Given the description of an element on the screen output the (x, y) to click on. 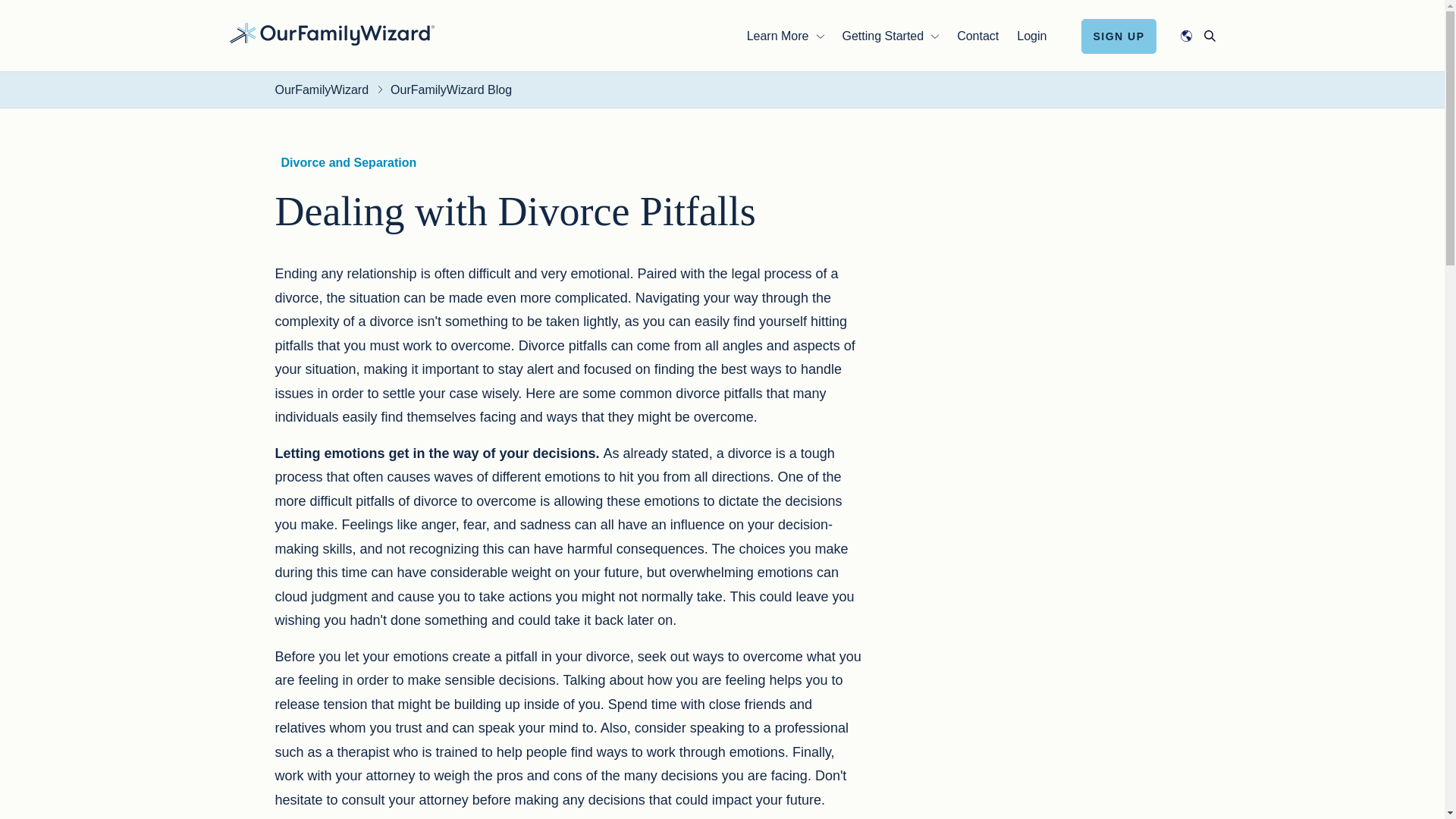
Contact (977, 35)
SIGN UP (1118, 35)
OurFamilyWizard (330, 32)
